Given the description of an element on the screen output the (x, y) to click on. 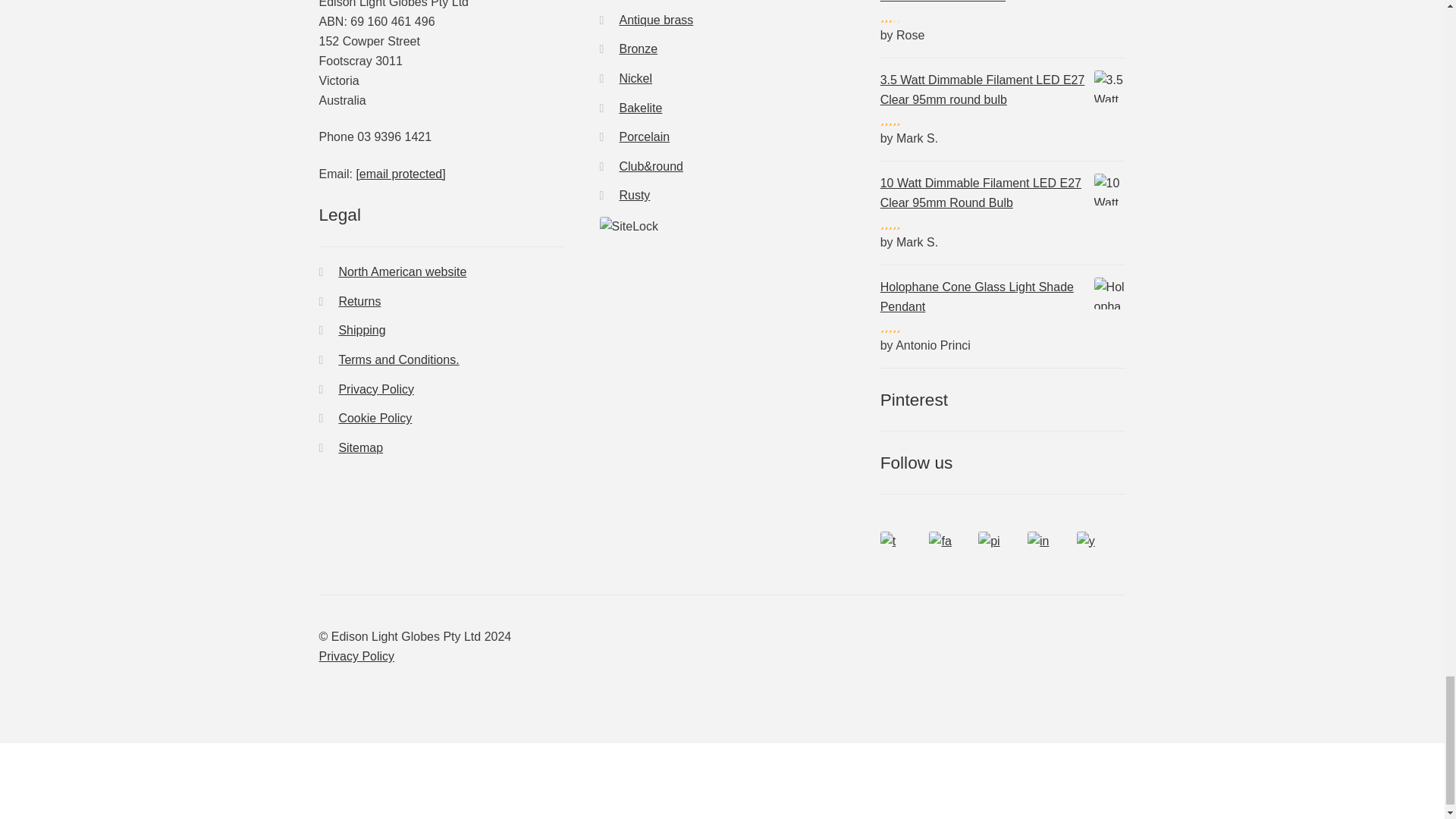
SiteLock (722, 226)
